Given the description of an element on the screen output the (x, y) to click on. 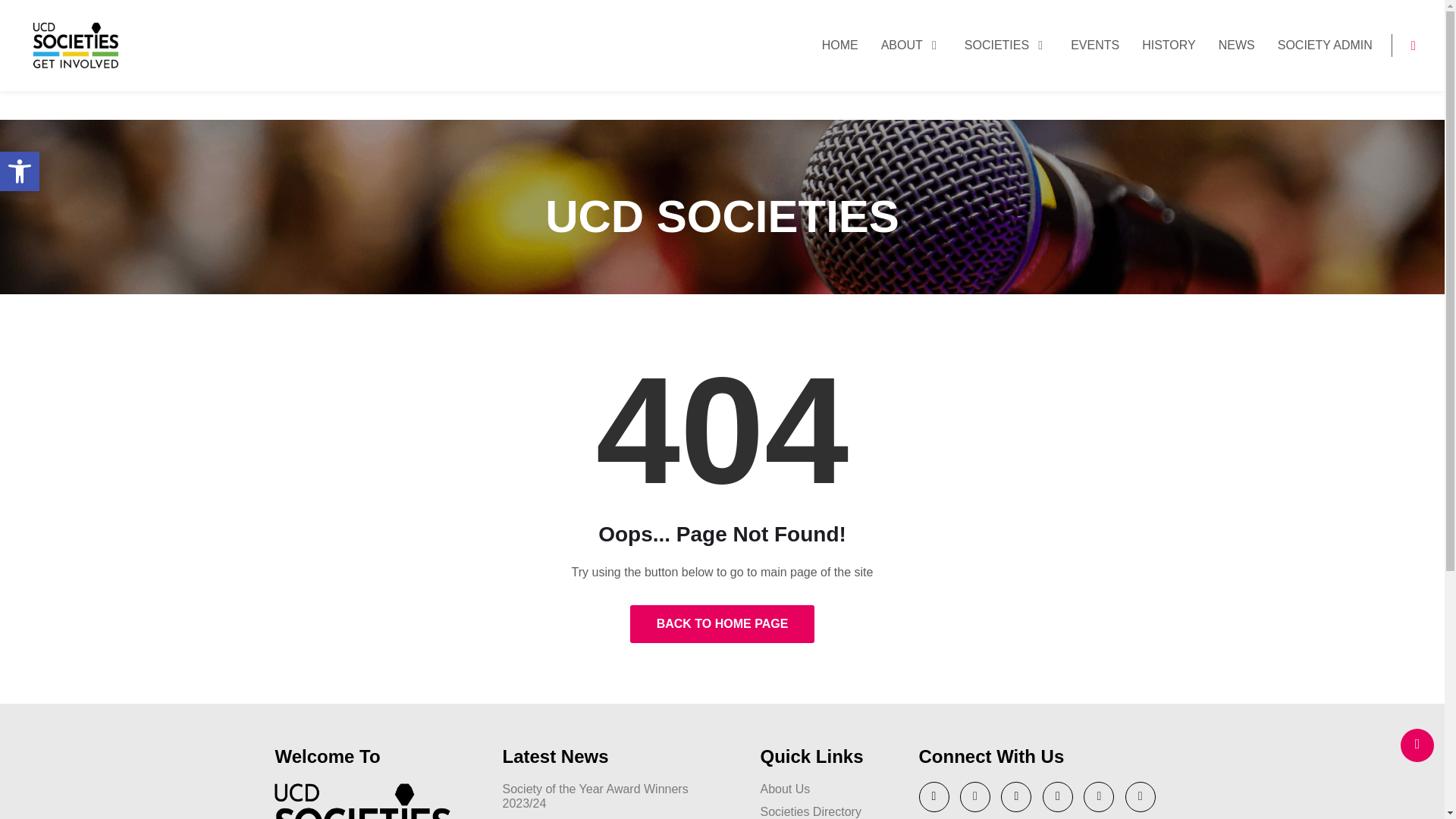
HOME (840, 45)
ABOUT (911, 45)
Accessibility Tools (19, 170)
Accessibility Tools (1005, 45)
